Given the description of an element on the screen output the (x, y) to click on. 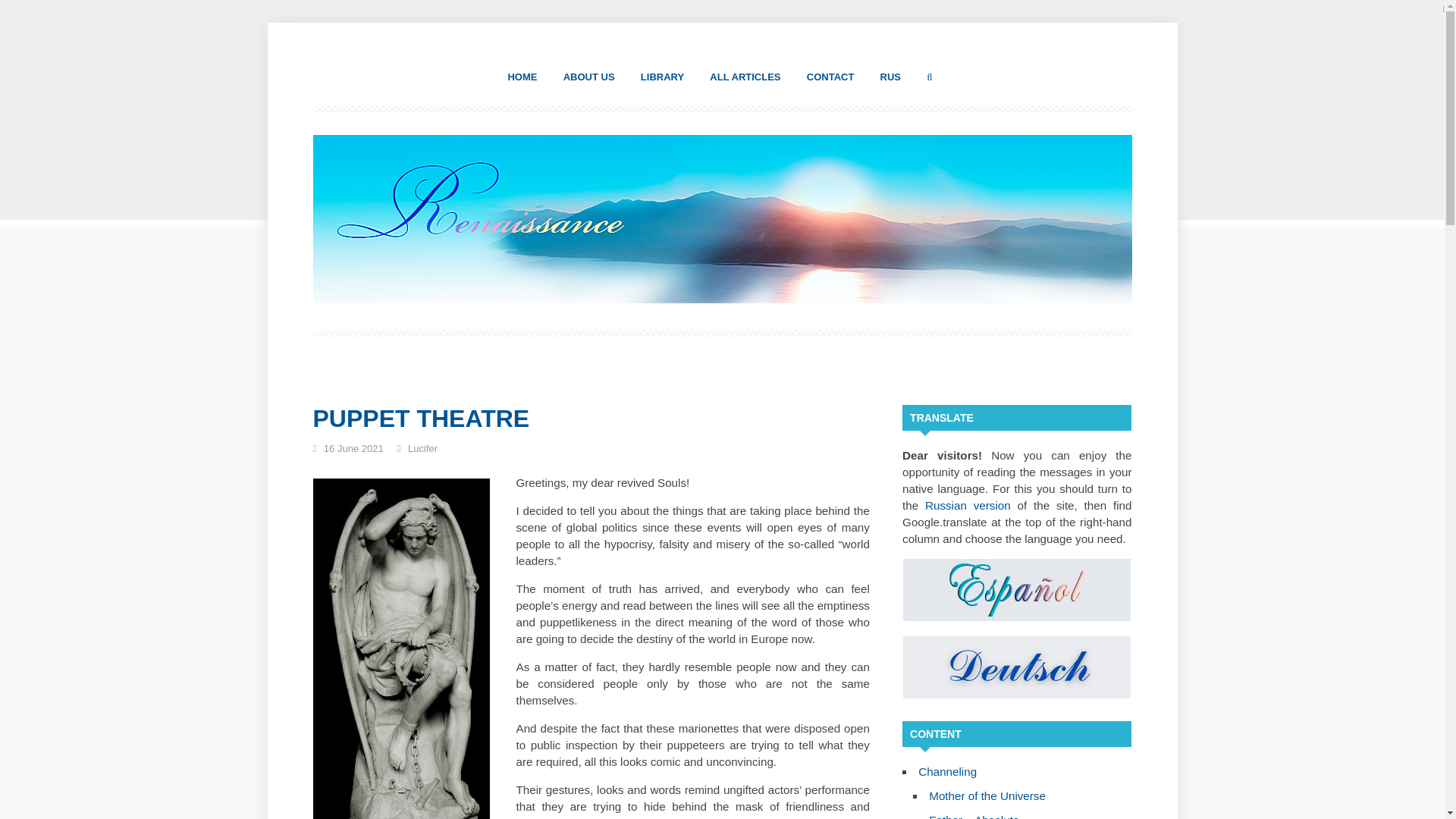
Mother of the Universe (986, 795)
Lucifer (422, 448)
Channeling (947, 771)
RUS (890, 76)
Russian version (967, 504)
HOME (521, 76)
LIBRARY (662, 76)
ABOUT US (588, 76)
ALL ARTICLES (745, 76)
